Given the description of an element on the screen output the (x, y) to click on. 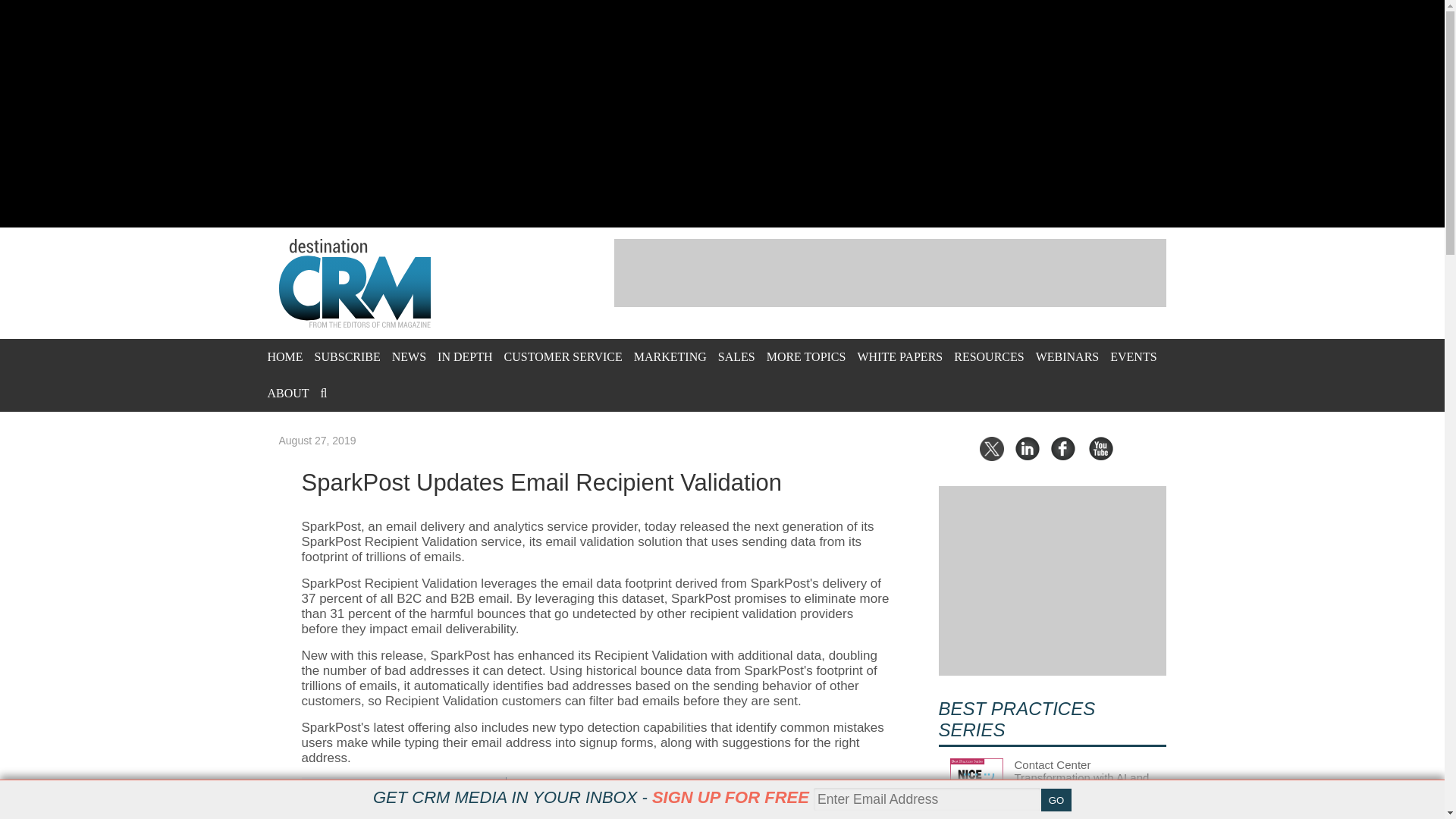
SUBSCRIBE (347, 357)
3rd party ad content (890, 273)
RESOURCES (988, 357)
HOME (284, 357)
Sales (736, 357)
MARKETING (669, 357)
GET CRM MEDIA IN YOUR INBOX - SIGN UP FOR FREE (590, 797)
NEWS (408, 357)
SALES (736, 357)
